Given the description of an element on the screen output the (x, y) to click on. 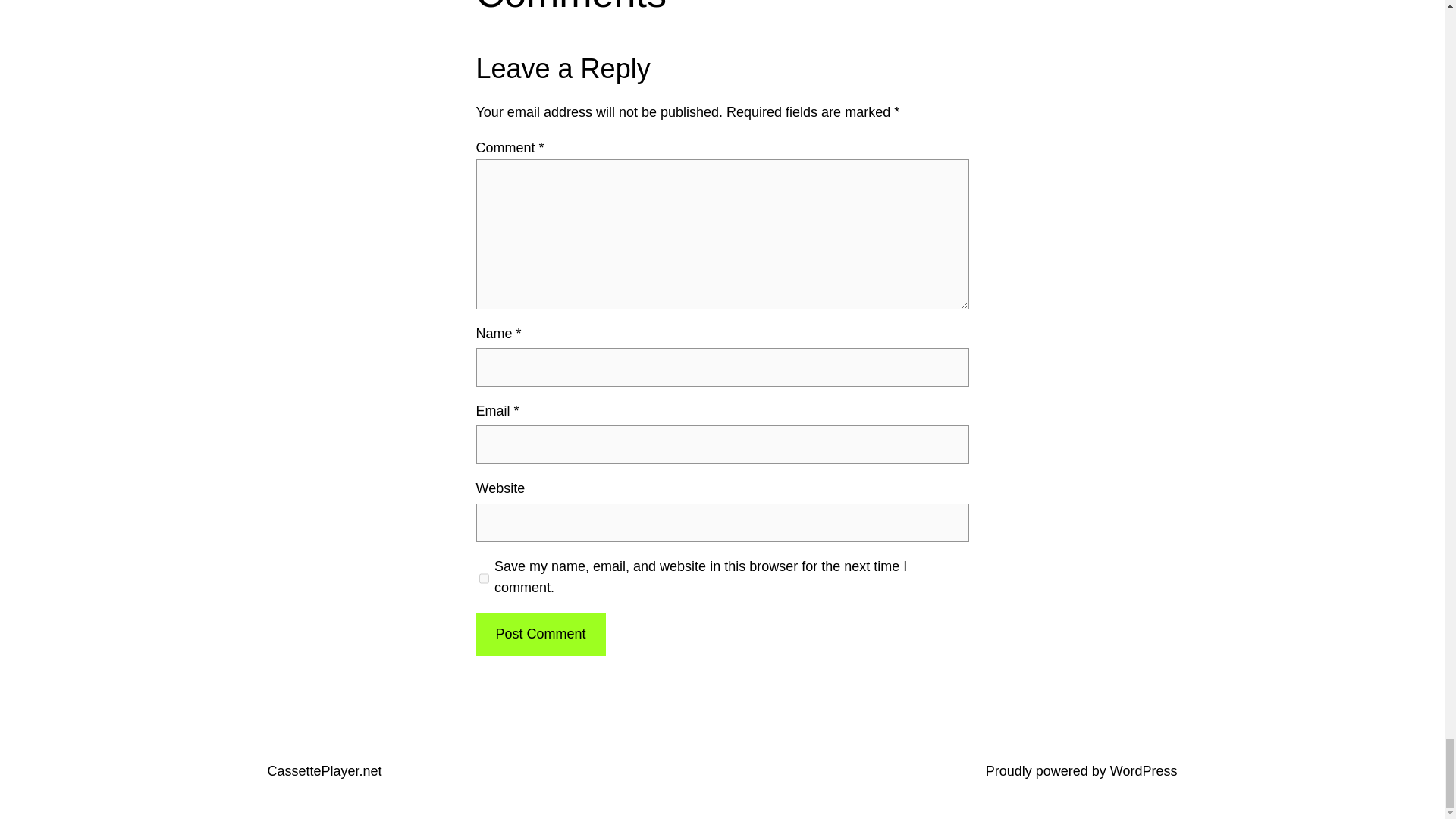
CassettePlayer.net (323, 770)
Post Comment (540, 634)
Post Comment (540, 634)
WordPress (1143, 770)
